Given the description of an element on the screen output the (x, y) to click on. 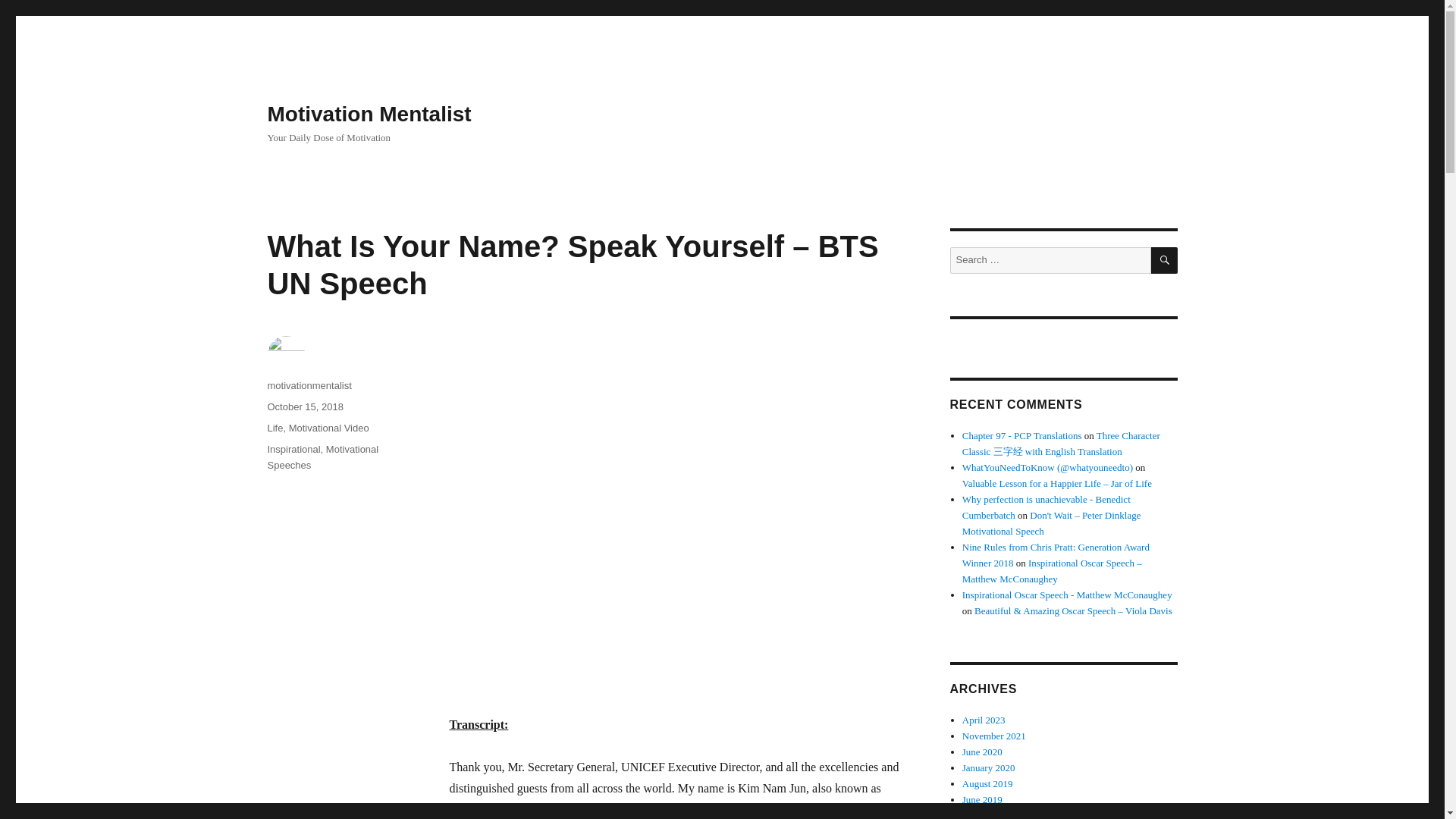
SEARCH (1164, 260)
October 15, 2018 (304, 406)
November 2021 (994, 736)
Motivation Mentalist (368, 114)
Inspirational (293, 449)
August 2019 (987, 783)
Motivational Speeches (322, 456)
June 2020 (982, 751)
June 2019 (982, 799)
Nine Rules from Chris Pratt: Generation Award Winner 2018 (1056, 554)
Inspirational Oscar Speech - Matthew McConaughey (1067, 594)
Life (274, 428)
Why perfection is unachievable - Benedict Cumberbatch (1046, 506)
Chapter 97 - PCP Translations (1021, 435)
Motivational Video (328, 428)
